Given the description of an element on the screen output the (x, y) to click on. 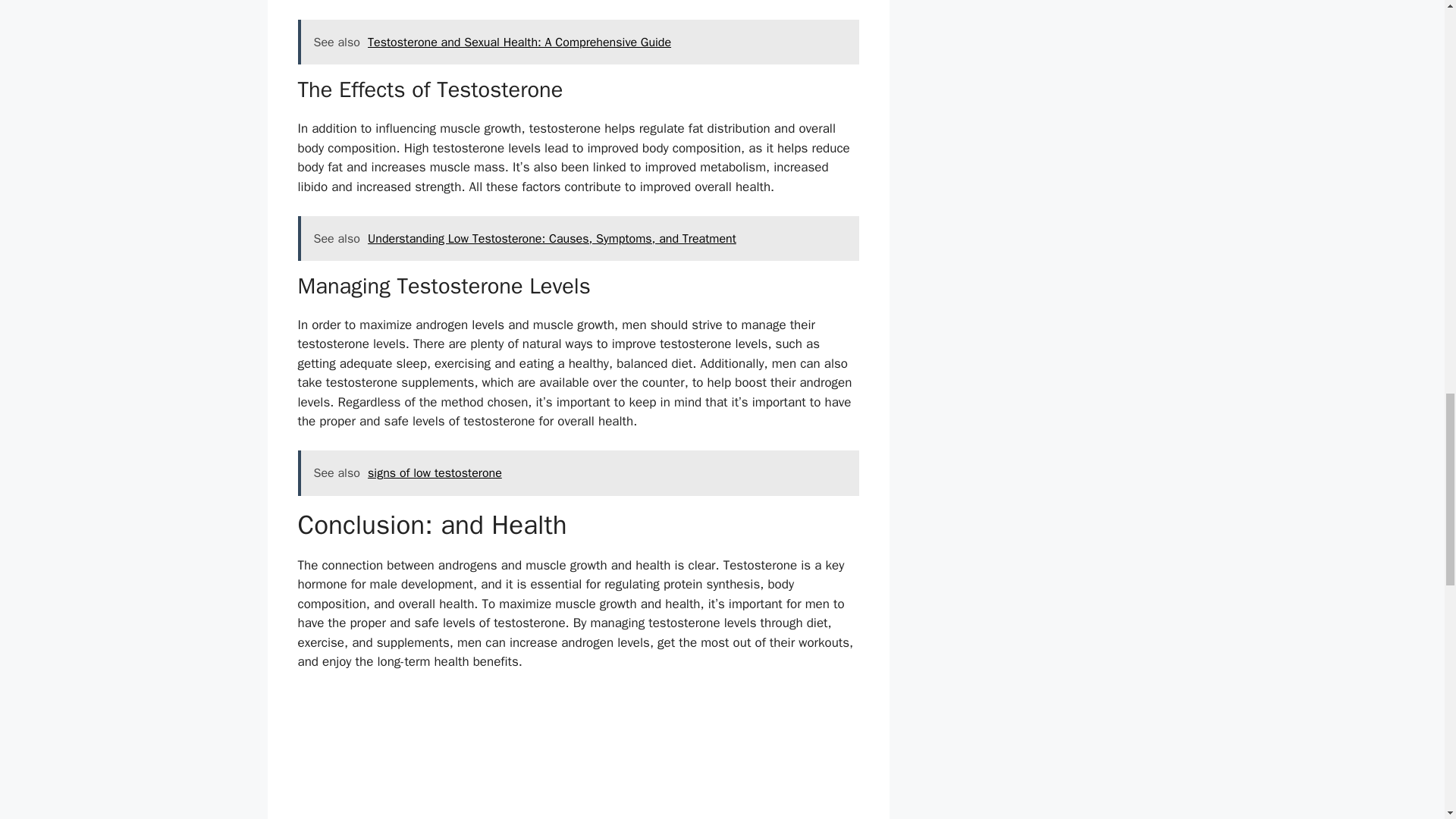
See also  signs of low testosterone (578, 473)
